Given the description of an element on the screen output the (x, y) to click on. 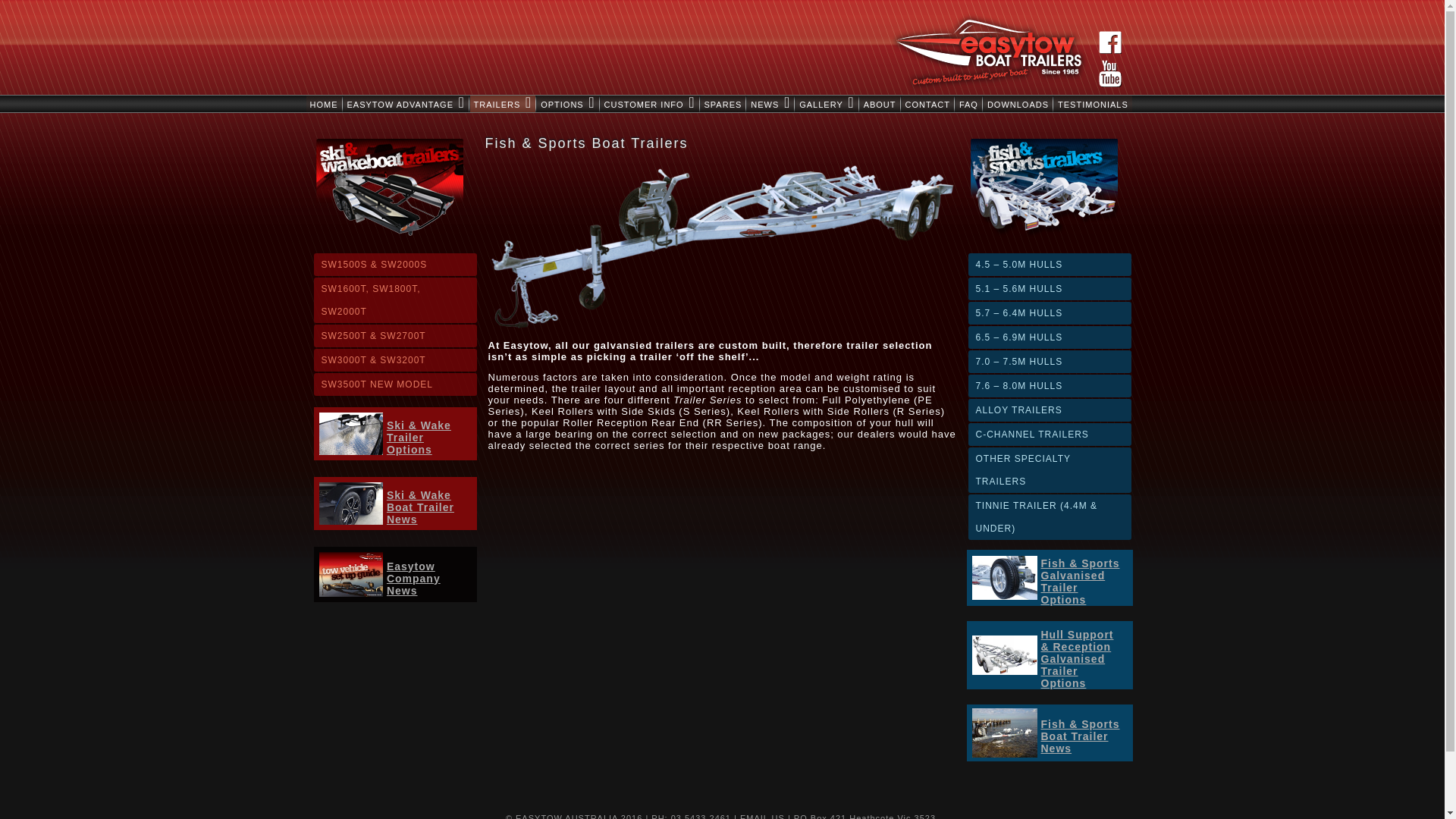
EASYTOW ADVANTAGE Element type: text (404, 103)
Fish & Sports Boat Trailers Element type: hover (722, 246)
ABOUT Element type: text (879, 103)
TINNIE TRAILER (4.4M & UNDER) Element type: text (1048, 516)
full_19 Element type: hover (1004, 732)
DOWNLOADS Element type: text (1017, 103)
Fish & Sports Galvanised Trailer Options Element type: text (1079, 581)
R SERIES - KEEL ROLLERS WITH SIDE SUPPORT ROLLERS Element type: hover (1004, 654)
SW1600T, SW1800T, SW2000T Element type: text (394, 300)
HOME Element type: text (324, 103)
SW1500S & SW2000S Element type: text (394, 264)
OTHER SPECIALTY TRAILERS Element type: text (1048, 469)
ALLOY TRAILERS Element type: text (1048, 409)
CUSTOMER INFO Element type: text (649, 103)
GALLERY Element type: text (826, 103)
Easytow Custom Boat Trailers - Element type: hover (350, 574)
OPTIONS Element type: text (567, 103)
FAQ Element type: text (968, 103)
Ski & Wake Trailer Options Element type: text (418, 437)
TESTIMONIALS Element type: text (1093, 103)
TRAILERS Element type: text (503, 103)
MOUNTED SPARE WHEEL Element type: hover (1004, 577)
Fish & Sports Boat Trailer News Element type: text (1079, 736)
Easytow Company News Element type: text (413, 578)
C-CHANNEL TRAILERS Element type: text (1048, 434)
SW2500T & SW2700T Element type: text (394, 335)
Ski & Wake Boat Trailer News Element type: text (420, 507)
SW3500T NEW MODEL Element type: text (394, 384)
SPARES Element type: text (723, 103)
SW3000T & SW3200T Element type: text (394, 359)
CONTACT Element type: text (927, 103)
NEWS Element type: text (769, 103)
Hull Support & Reception Galvanised Trailer Options Element type: text (1076, 658)
